Given the description of an element on the screen output the (x, y) to click on. 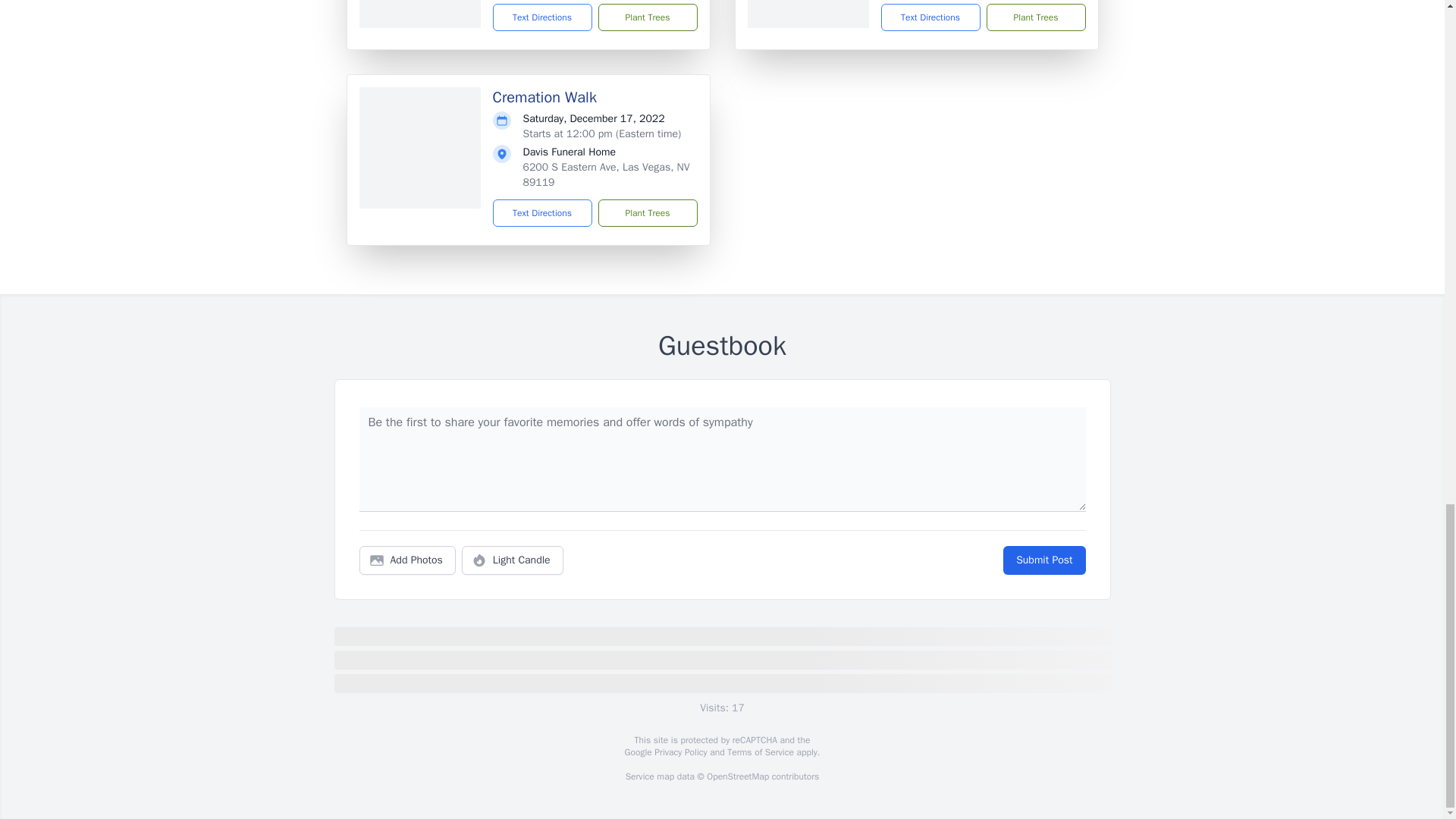
Light Candle (512, 560)
Text Directions (929, 17)
Plant Trees (1034, 17)
6200 S Eastern Ave, Las Vegas, NV 89119 (606, 174)
Plant Trees (646, 212)
Privacy Policy (679, 752)
Text Directions (542, 17)
Add Photos (407, 560)
Submit Post (1043, 560)
Text Directions (542, 212)
